Given the description of an element on the screen output the (x, y) to click on. 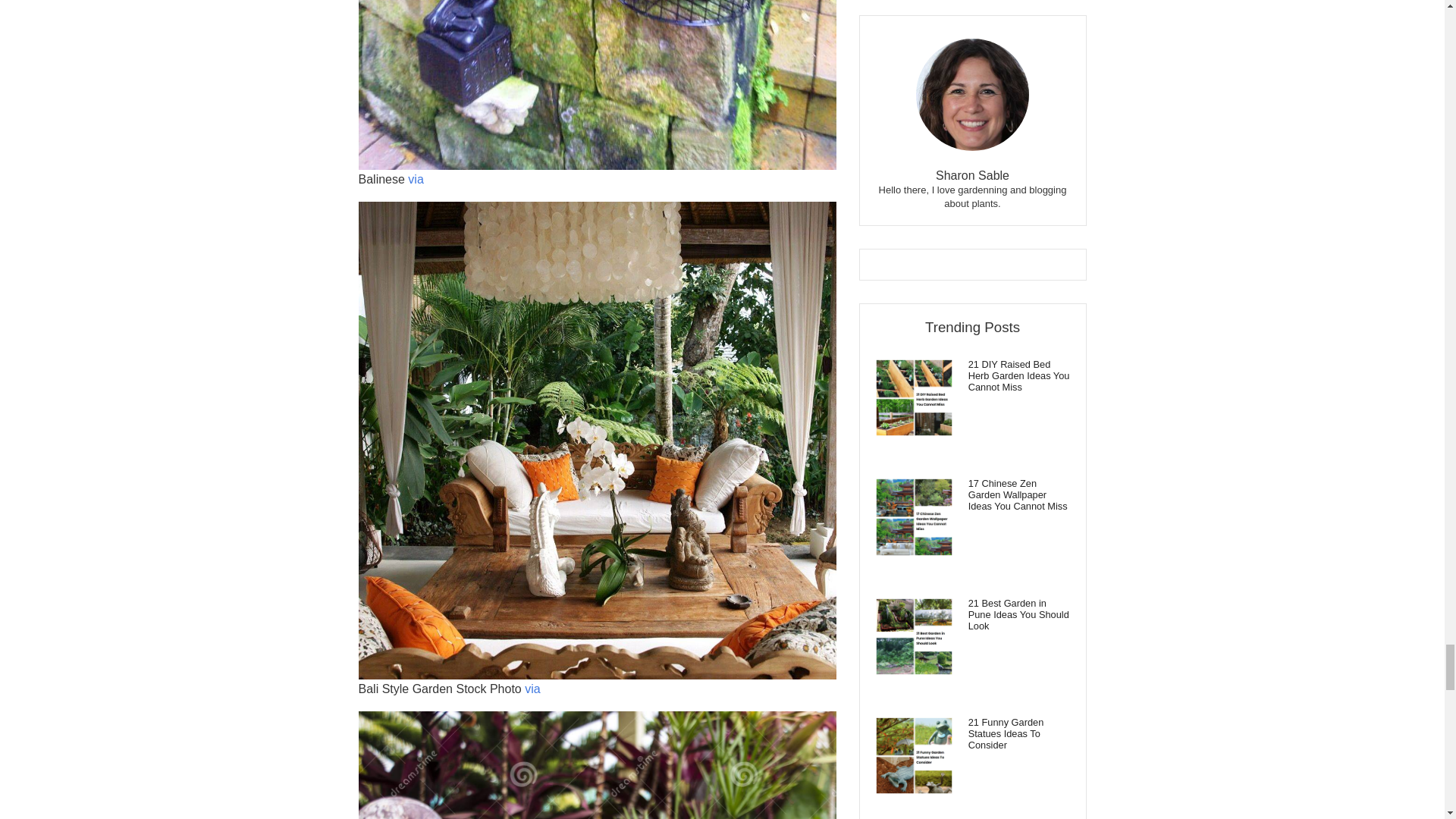
via (532, 688)
via (415, 178)
